Given the description of an element on the screen output the (x, y) to click on. 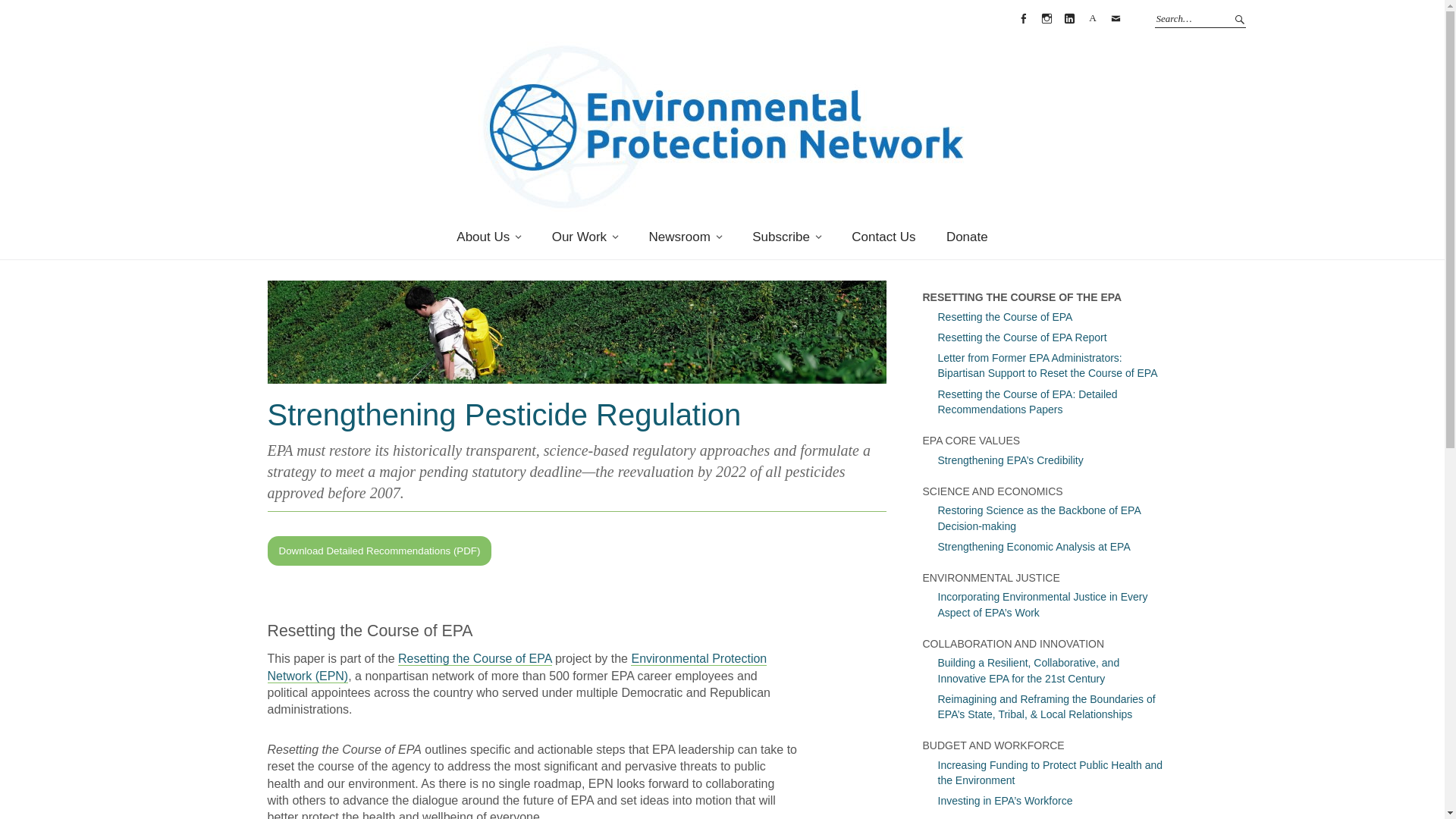
LinkedIn (1069, 18)
Instagram (1046, 18)
Donate (967, 236)
Newsroom (684, 236)
Subscribe (786, 236)
Our Work (584, 236)
Email (1114, 18)
Search (1237, 18)
Substack (1092, 18)
About Us (488, 236)
Search (1237, 18)
Facebook (1023, 18)
Contact Us (883, 236)
